Given the description of an element on the screen output the (x, y) to click on. 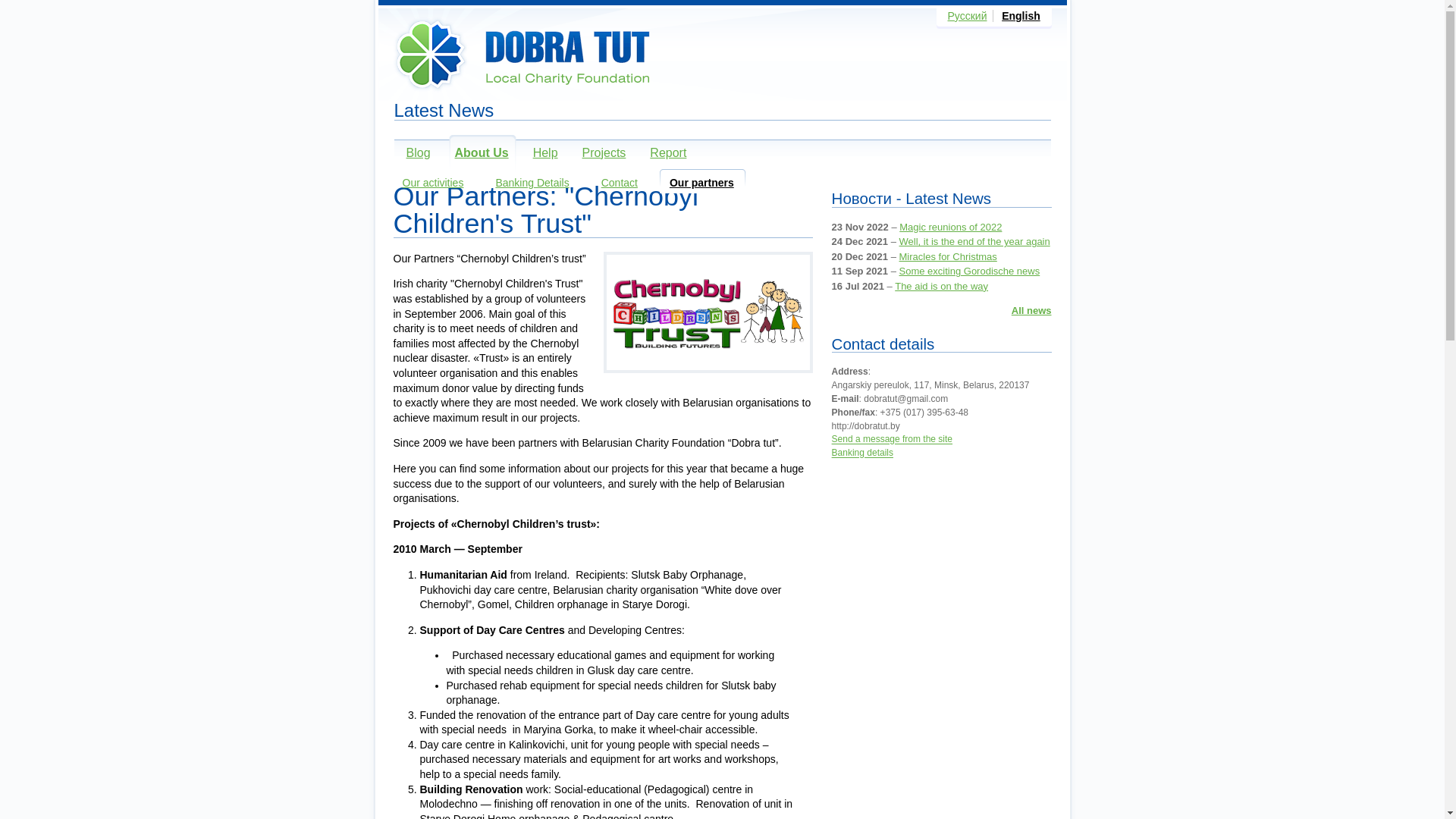
Go to the homepage Element type: hover (525, 57)
Banking Details Element type: text (526, 181)
Our activities Element type: text (427, 181)
Our partners Element type: text (696, 181)
All news Element type: text (1031, 310)
Report Element type: text (661, 153)
Send a message from the site Element type: text (891, 439)
Miracles for Christmas Element type: text (948, 256)
Blog Element type: text (412, 153)
Contact Element type: text (614, 181)
The aid is on the way Element type: text (941, 285)
Some exciting Gorodische news Element type: text (969, 270)
Banking details Element type: text (862, 452)
About Us Element type: text (475, 153)
Well, it is the end of the year again Element type: text (974, 241)
English Element type: text (1020, 15)
Help Element type: text (539, 153)
Magic reunions of 2022 Element type: text (950, 226)
Contact details Element type: text (883, 343)
Projects Element type: text (598, 153)
